Given the description of an element on the screen output the (x, y) to click on. 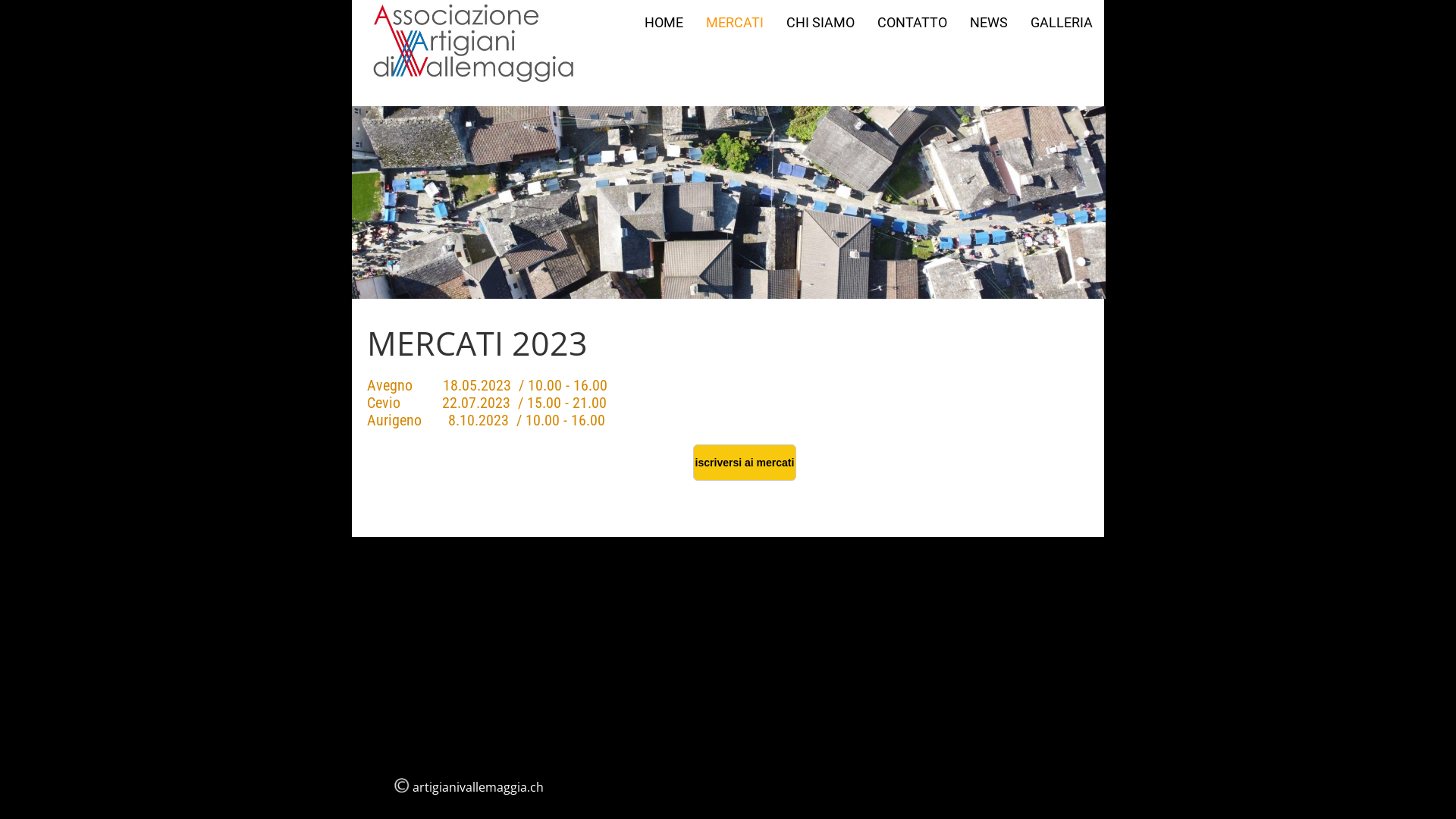
YouTube video player Element type: hover (965, 404)
iscriversi ai mercati Element type: text (744, 462)
MERCATI Element type: text (734, 22)
CONTATTO Element type: text (912, 22)
CHI SIAMO Element type: text (820, 22)
GALLERIA Element type: text (1061, 22)
NEWS Element type: text (988, 22)
HOME Element type: text (663, 22)
